Given the description of an element on the screen output the (x, y) to click on. 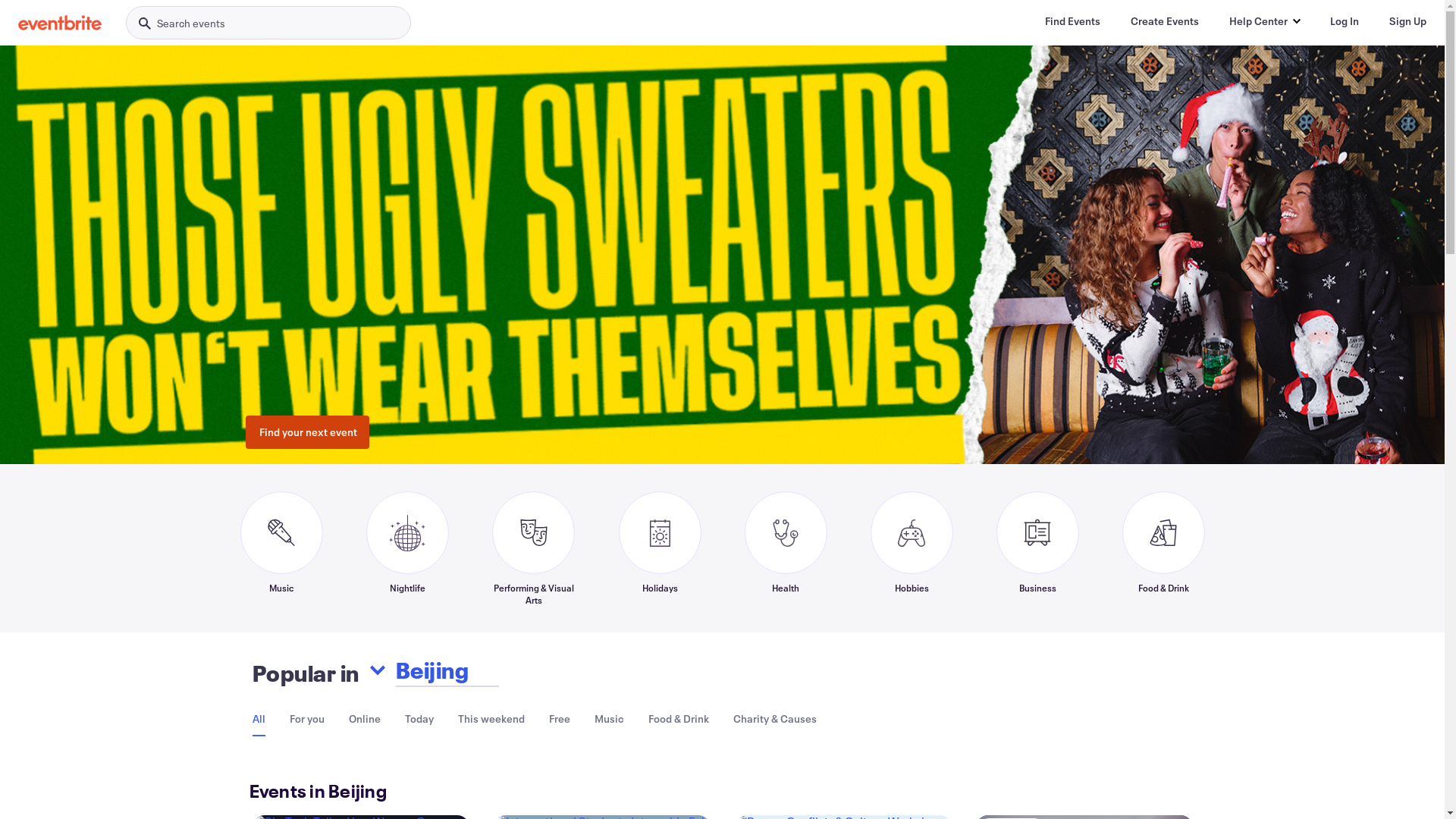
Performing & Visual Arts Element type: text (532, 548)
Sign Up Element type: text (1407, 21)
Health Element type: text (785, 548)
Music Element type: text (280, 548)
Eventbrite Element type: hover (59, 22)
Food & Drink Element type: text (1163, 548)
Find your next event Element type: text (307, 431)
Log In Element type: text (1344, 21)
All Element type: text (257, 719)
Free Element type: text (559, 718)
Hobbies Element type: text (911, 548)
Charity & Causes Element type: text (773, 718)
Create Events Element type: text (1164, 21)
For you Element type: text (306, 718)
Nightlife Element type: text (406, 548)
Online Element type: text (364, 718)
Music Element type: text (609, 718)
This weekend Element type: text (491, 718)
Business Element type: text (1037, 548)
Holidays Element type: text (659, 548)
Find Events Element type: text (1072, 21)
Today Element type: text (418, 718)
Search events Element type: text (268, 22)
Food & Drink Element type: text (677, 718)
